Given the description of an element on the screen output the (x, y) to click on. 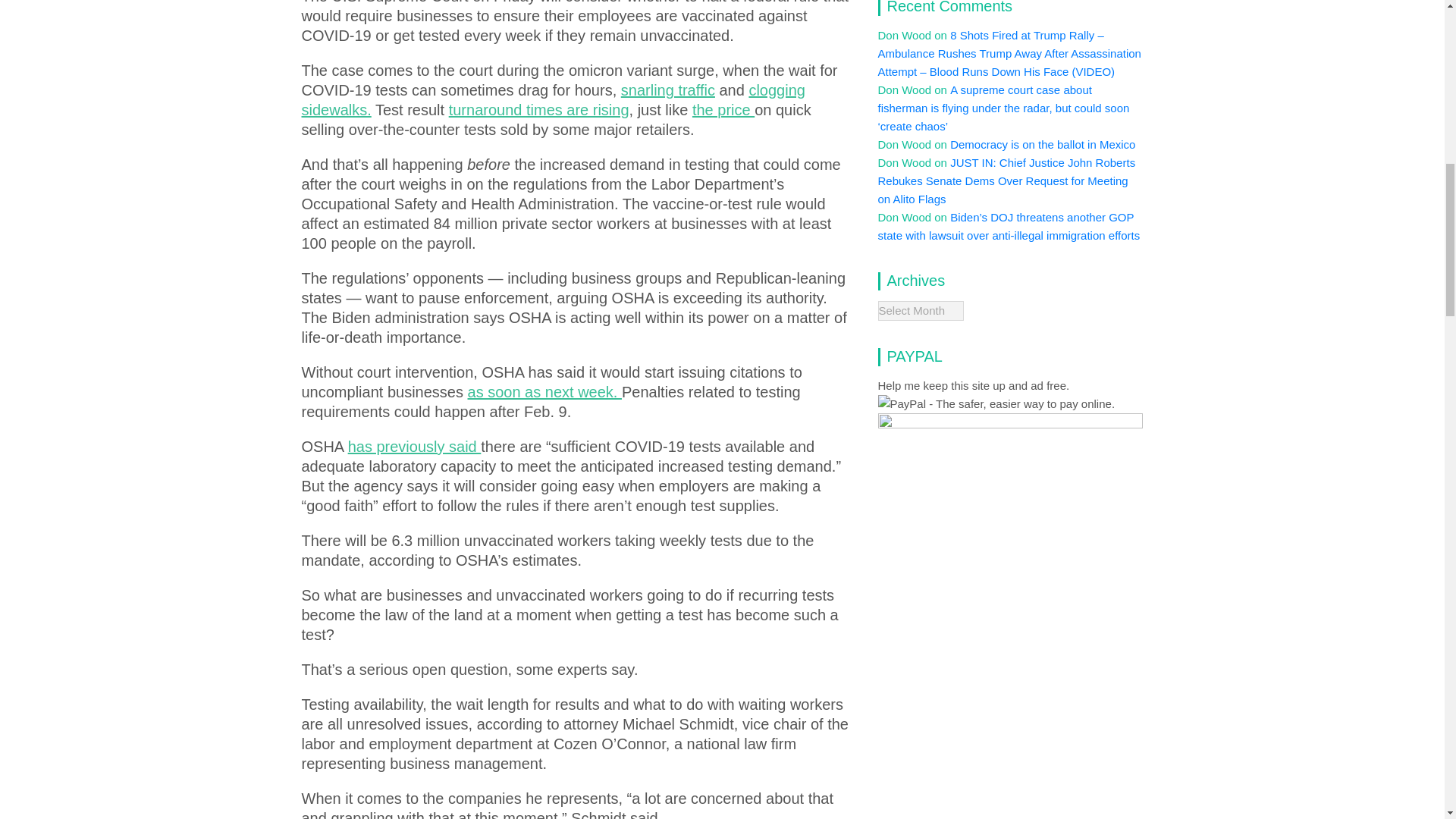
the price  (723, 109)
has previously said  (414, 446)
turnaround times are rising (538, 109)
clogging sidewalks. (553, 99)
snarling traffic (667, 89)
as soon as next week.  (544, 392)
